Given the description of an element on the screen output the (x, y) to click on. 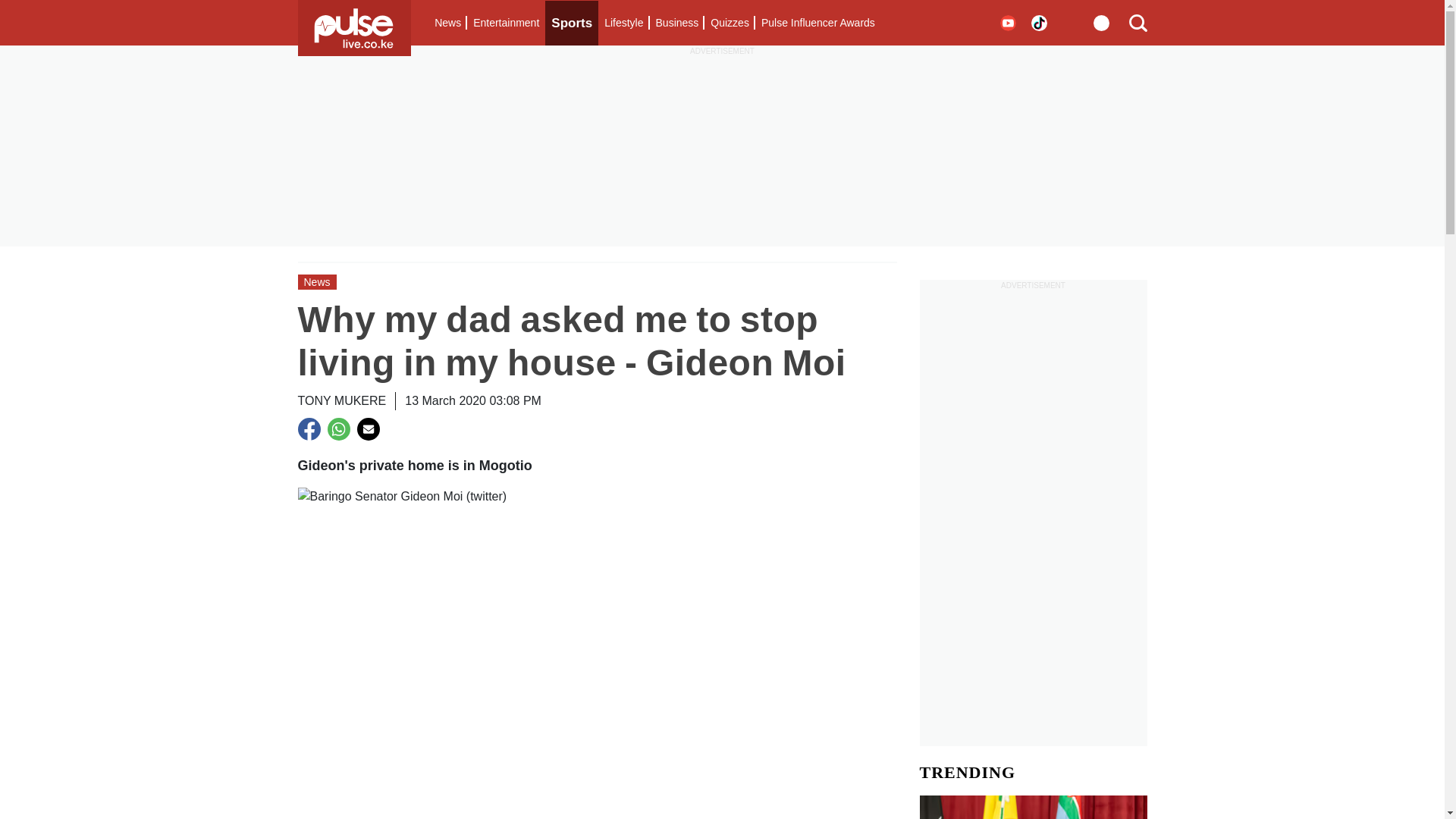
Entertainment (505, 22)
Quizzes (729, 22)
Lifestyle (623, 22)
Business (676, 22)
Pulse Influencer Awards (817, 22)
Sports (571, 22)
